Given the description of an element on the screen output the (x, y) to click on. 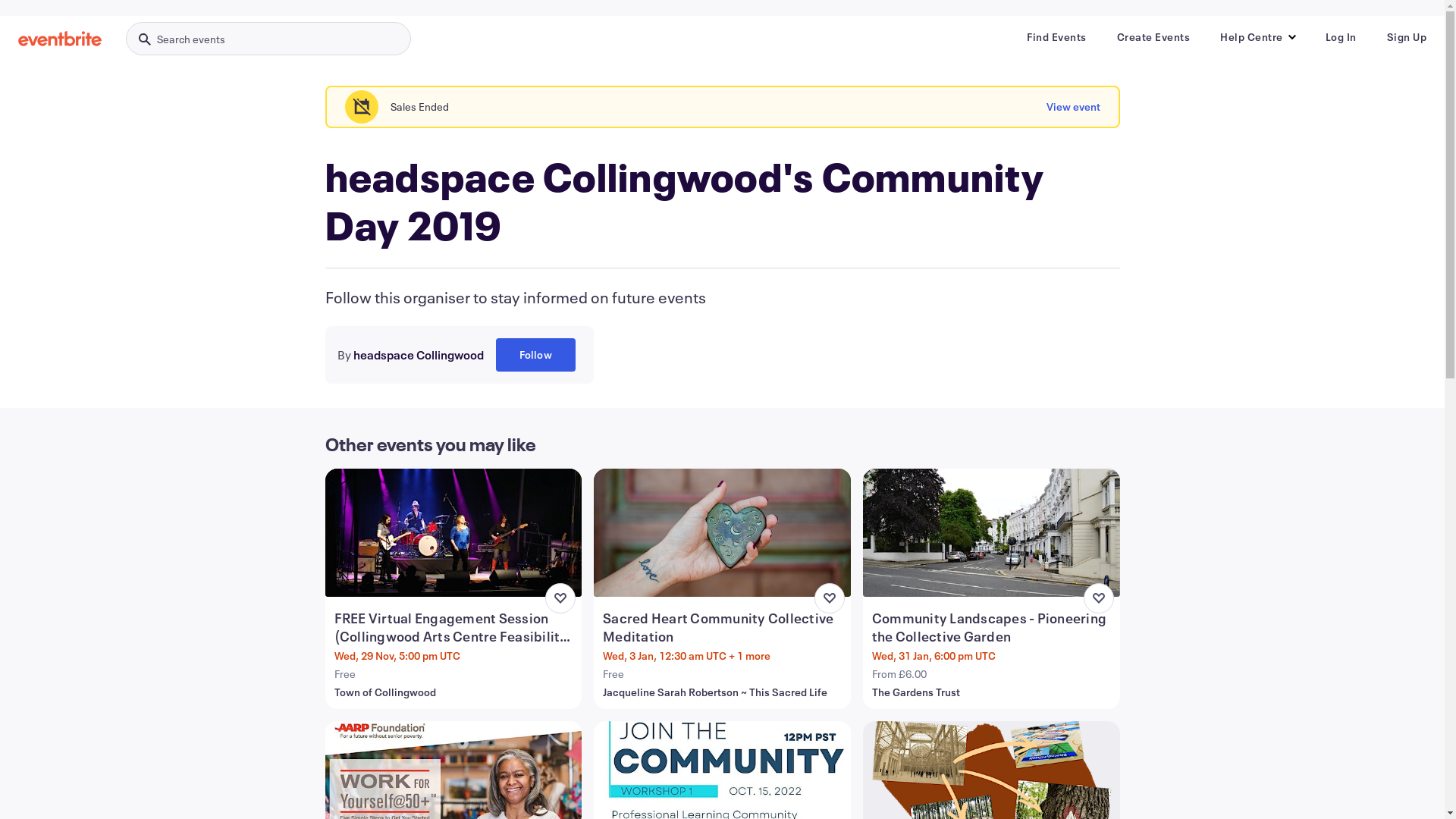
Search events Element type: text (268, 38)
Log In Element type: text (1340, 36)
Community Landscapes - Pioneering the Collective Garden Element type: text (992, 626)
Follow Element type: text (535, 354)
Eventbrite Element type: hover (59, 38)
Sign Up Element type: text (1406, 36)
Create Events Element type: text (1152, 36)
Sacred Heart Community Collective Meditation Element type: text (723, 626)
View event Element type: text (1073, 106)
Find Events Element type: text (1056, 36)
